Given the description of an element on the screen output the (x, y) to click on. 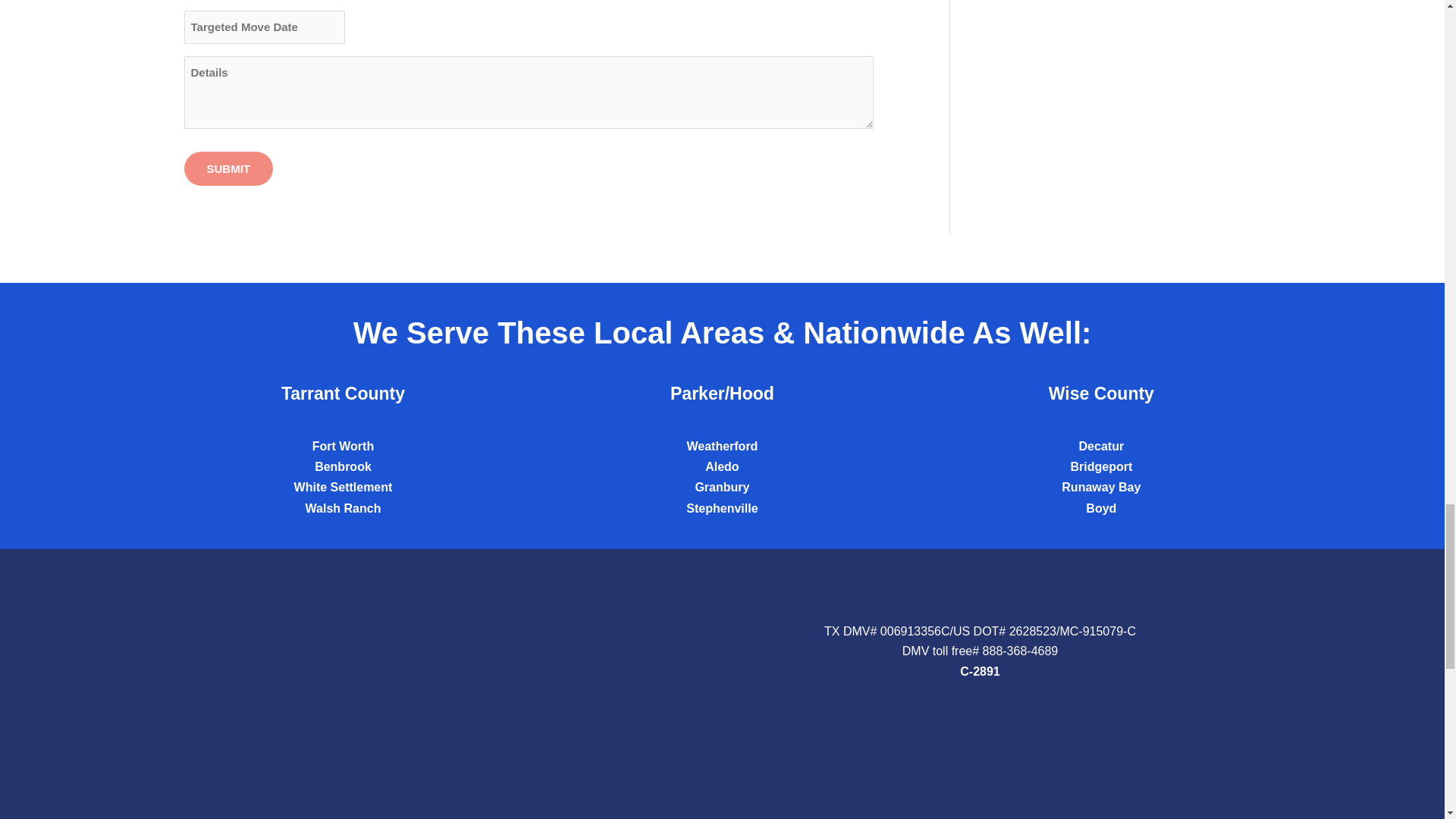
Submit (228, 168)
Submit (228, 168)
